Given the description of an element on the screen output the (x, y) to click on. 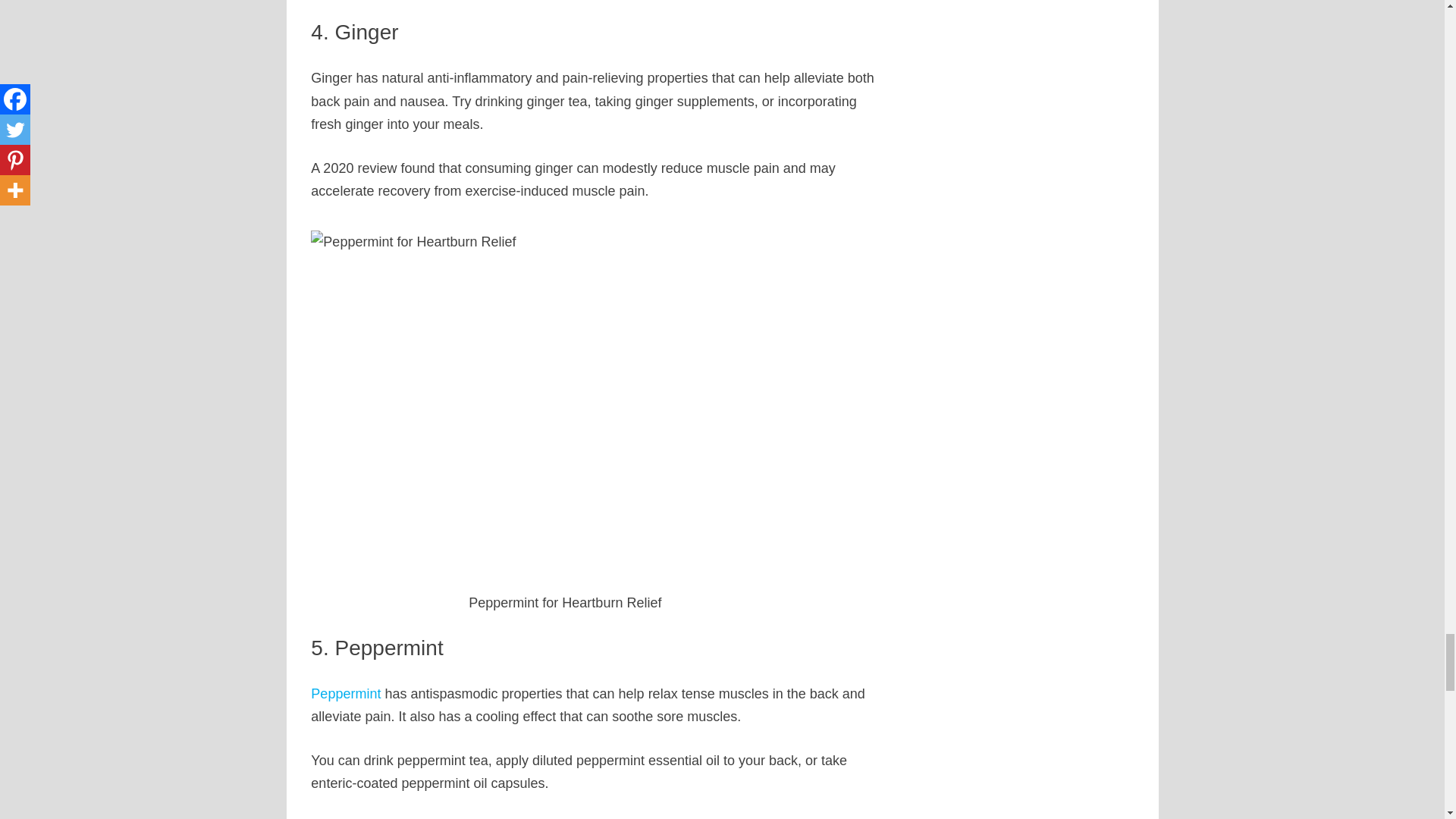
Peppermint (345, 693)
